Given the description of an element on the screen output the (x, y) to click on. 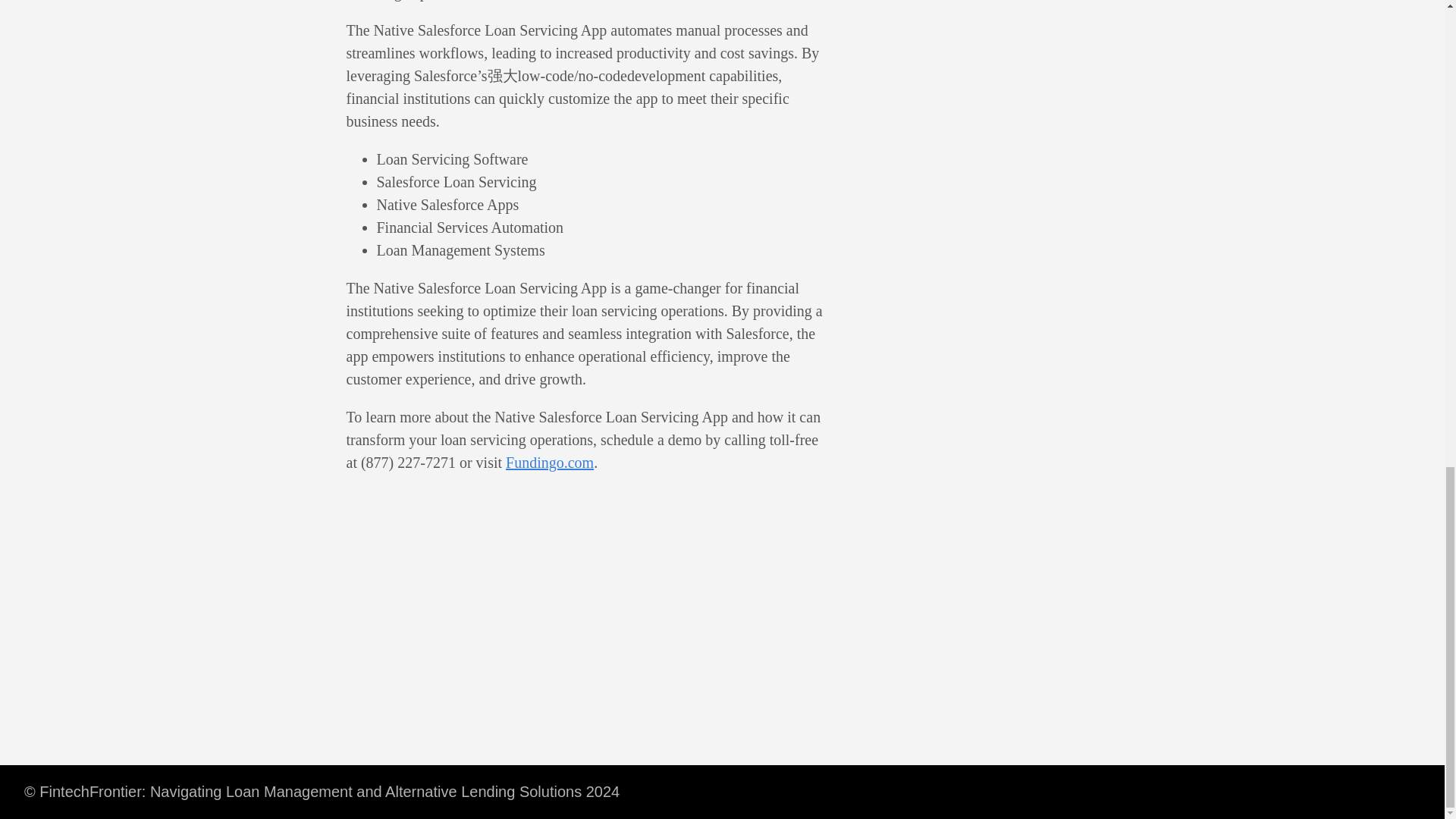
Fundingo.com (549, 462)
